Given the description of an element on the screen output the (x, y) to click on. 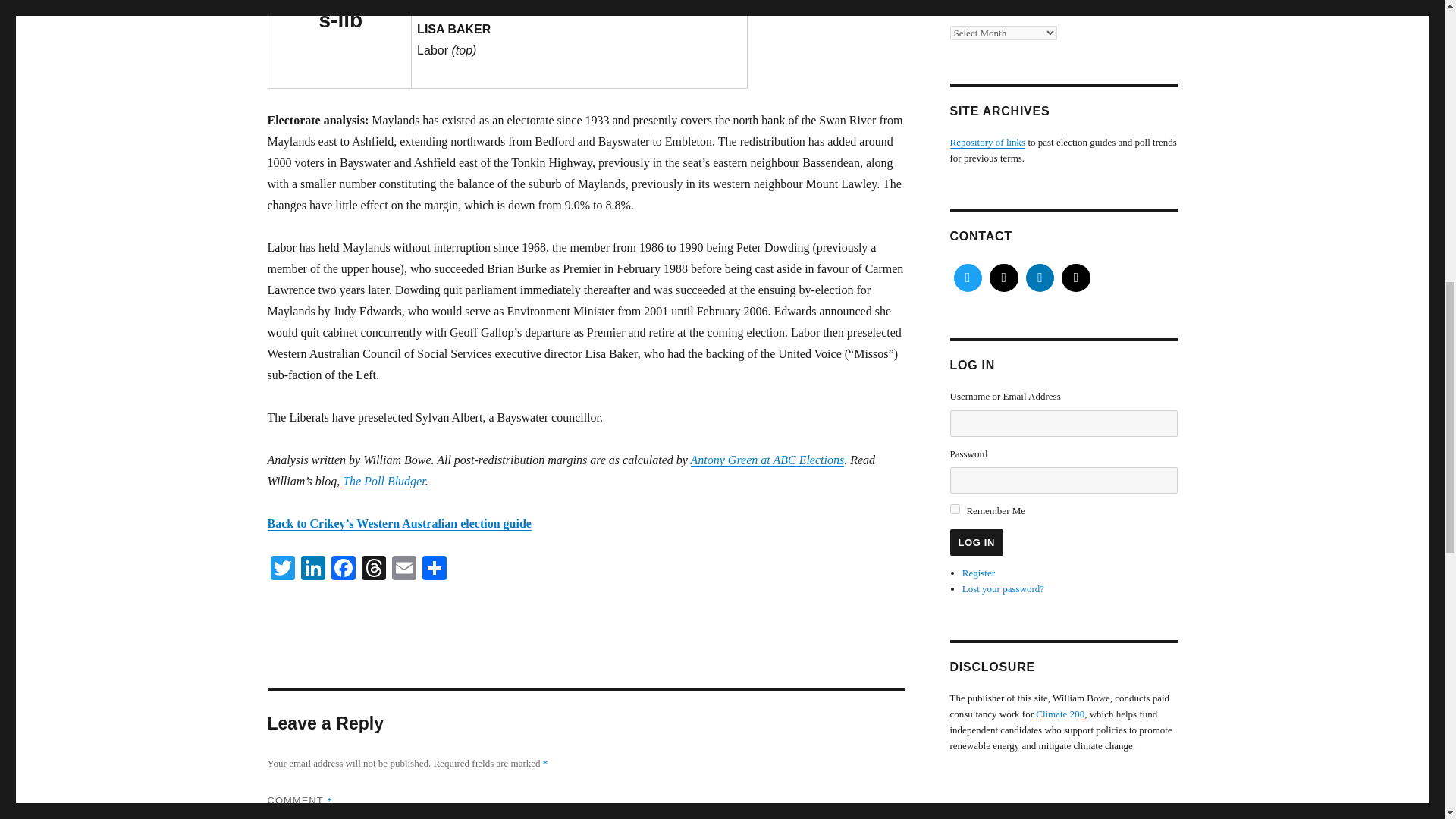
The Poll Bludger (383, 481)
Register (978, 572)
Facebook (342, 569)
LinkedIn (312, 569)
Twitter (281, 569)
Repository of links (987, 142)
Email (403, 569)
LinkedIn (312, 569)
Threads (373, 569)
Email (403, 569)
Climate 200 (1059, 713)
forever (954, 509)
Threads (373, 569)
LOG IN (976, 542)
X (967, 278)
